Given the description of an element on the screen output the (x, y) to click on. 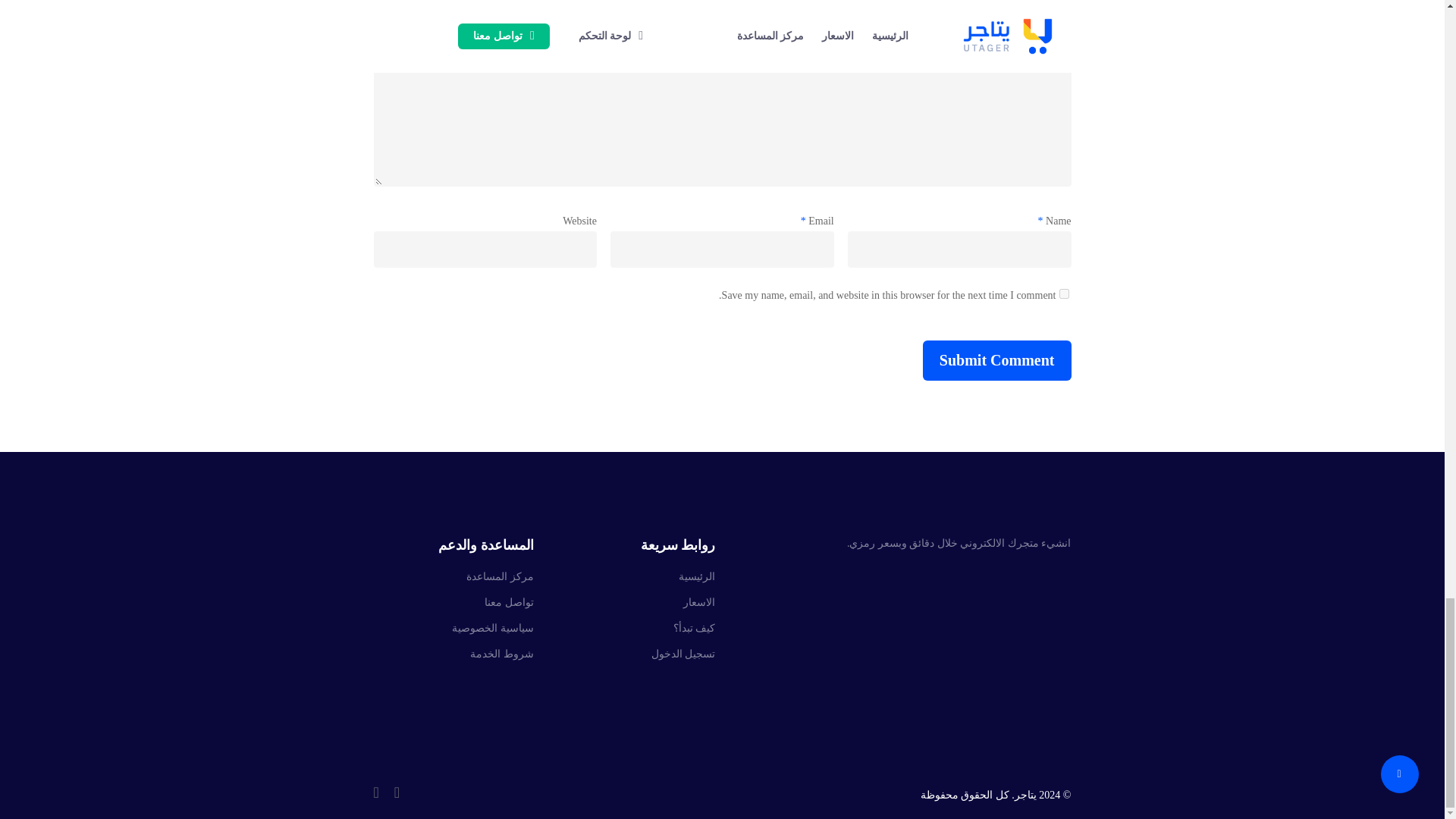
Submit Comment (997, 360)
Submit Comment (997, 360)
yes (1063, 293)
